Given the description of an element on the screen output the (x, y) to click on. 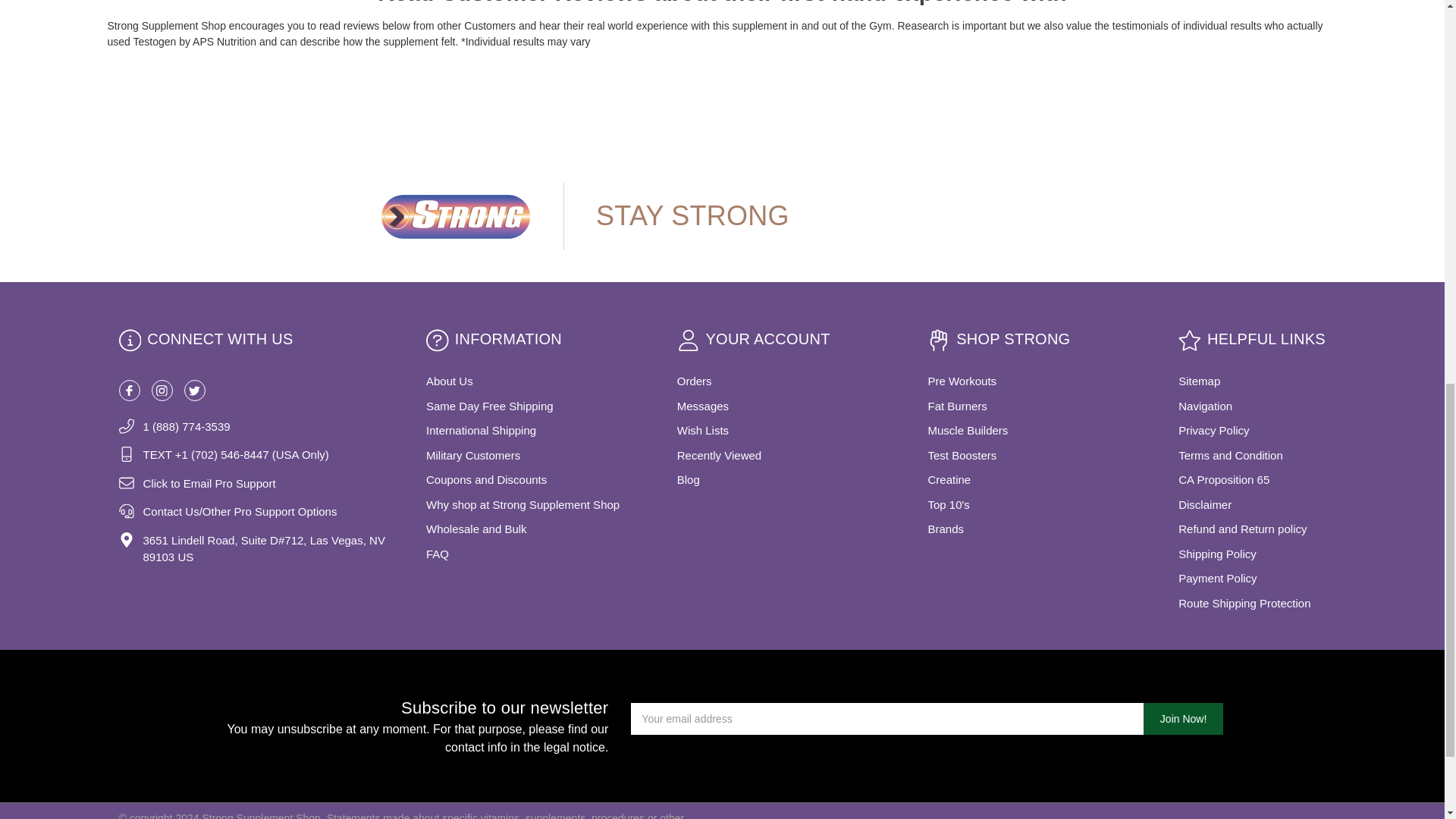
Twitter (194, 390)
Instagram (162, 390)
Facebook (128, 390)
Join Now! (1182, 718)
Strong Supplement Shop (455, 216)
